Given the description of an element on the screen output the (x, y) to click on. 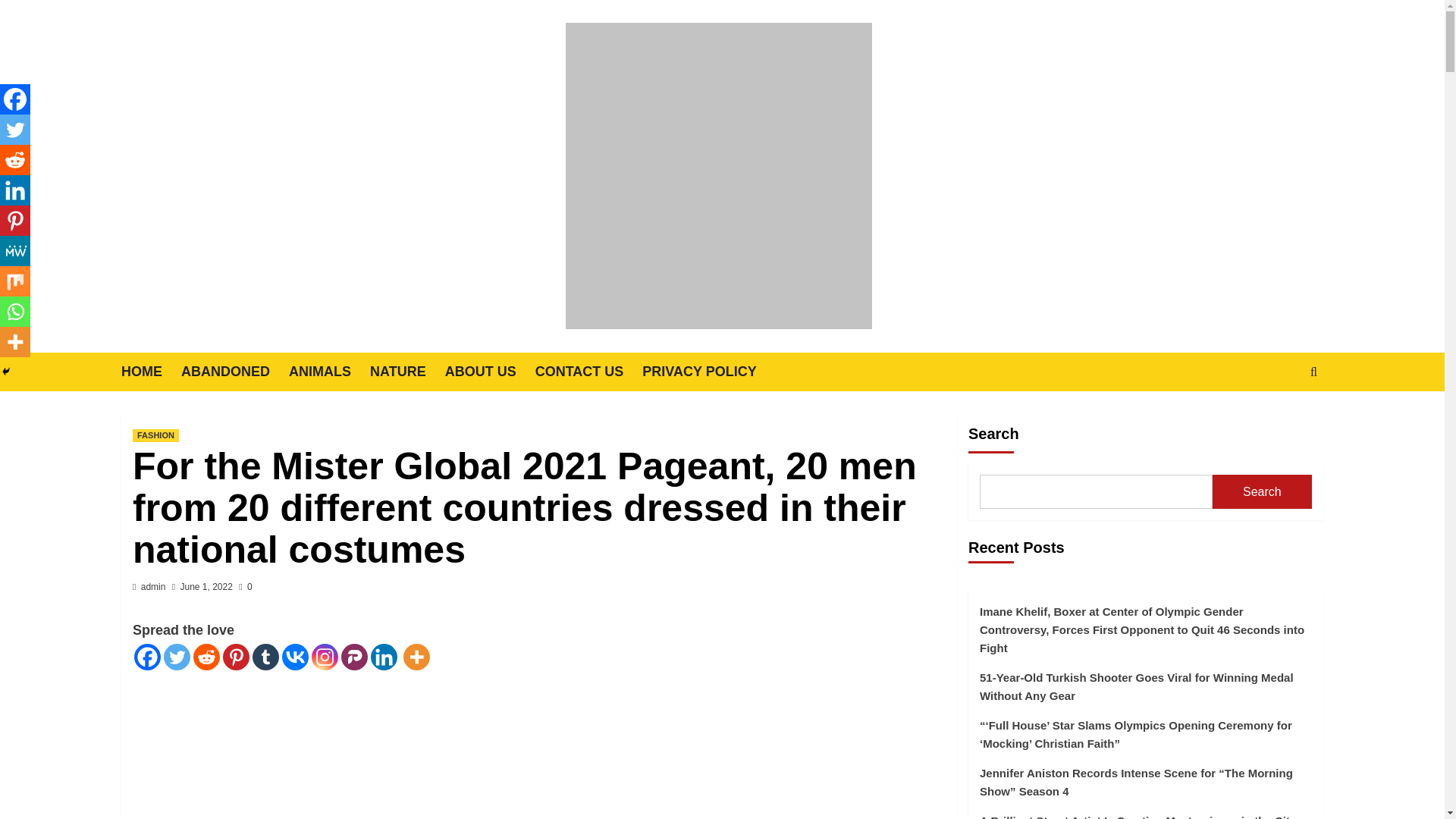
More (416, 656)
Linkedin (384, 656)
ANIMALS (328, 371)
admin (153, 586)
HOME (150, 371)
NATURE (407, 371)
Tumblr (265, 656)
Reddit (206, 656)
June 1, 2022 (206, 586)
Vkontakte (295, 656)
CONTACT US (589, 371)
Search (1278, 418)
PRIVACY POLICY (708, 371)
Instagram (324, 656)
ABANDONED (234, 371)
